Given the description of an element on the screen output the (x, y) to click on. 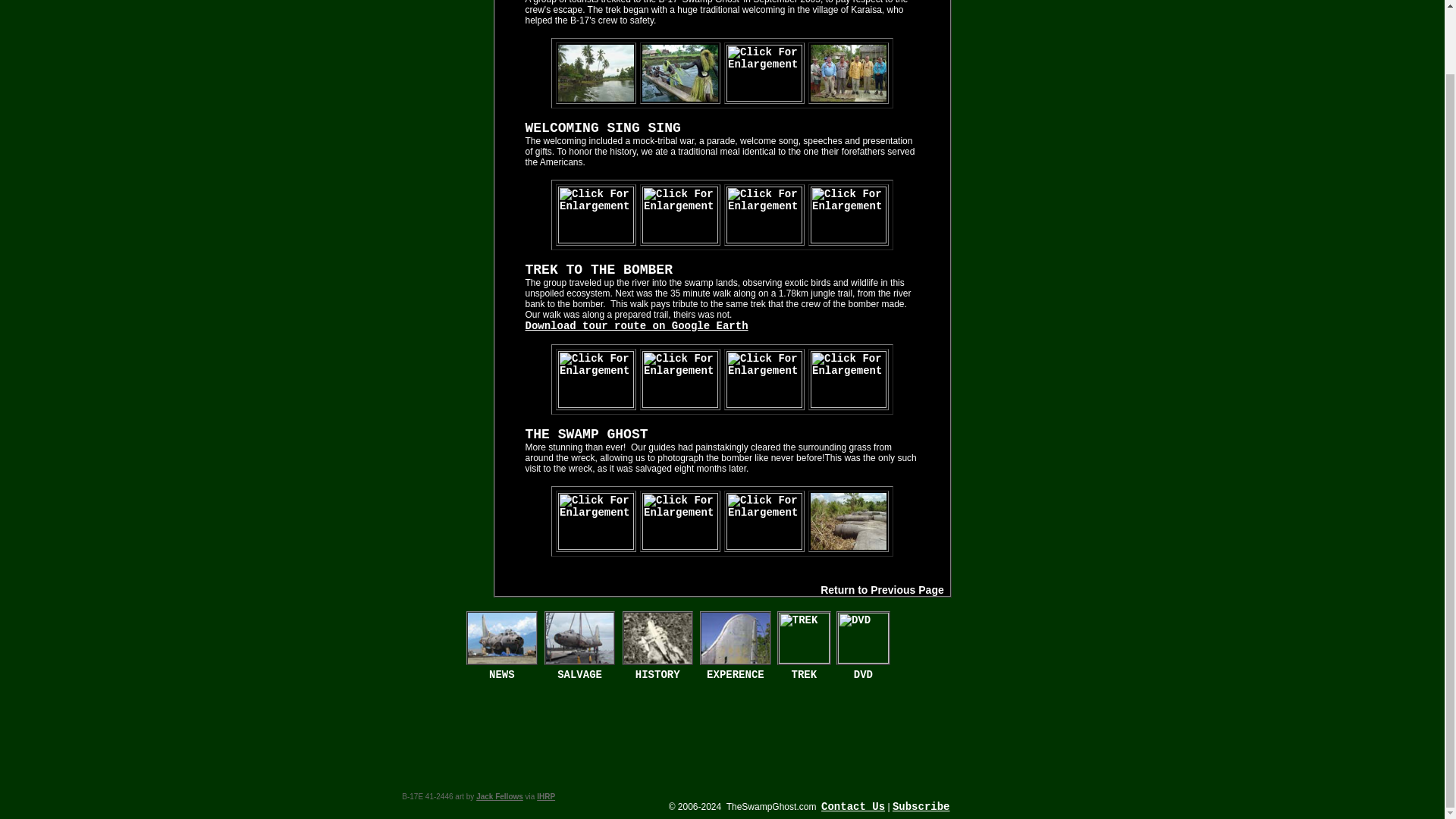
Download tour route on Google Earth (636, 326)
HISTORY (656, 674)
NEWS (502, 674)
TREK (804, 674)
EXPERENCE (735, 674)
DVD (862, 674)
Return to Previous Page (882, 589)
IHRP (545, 796)
SALVAGE (579, 674)
Jack Fellows (499, 796)
